Given the description of an element on the screen output the (x, y) to click on. 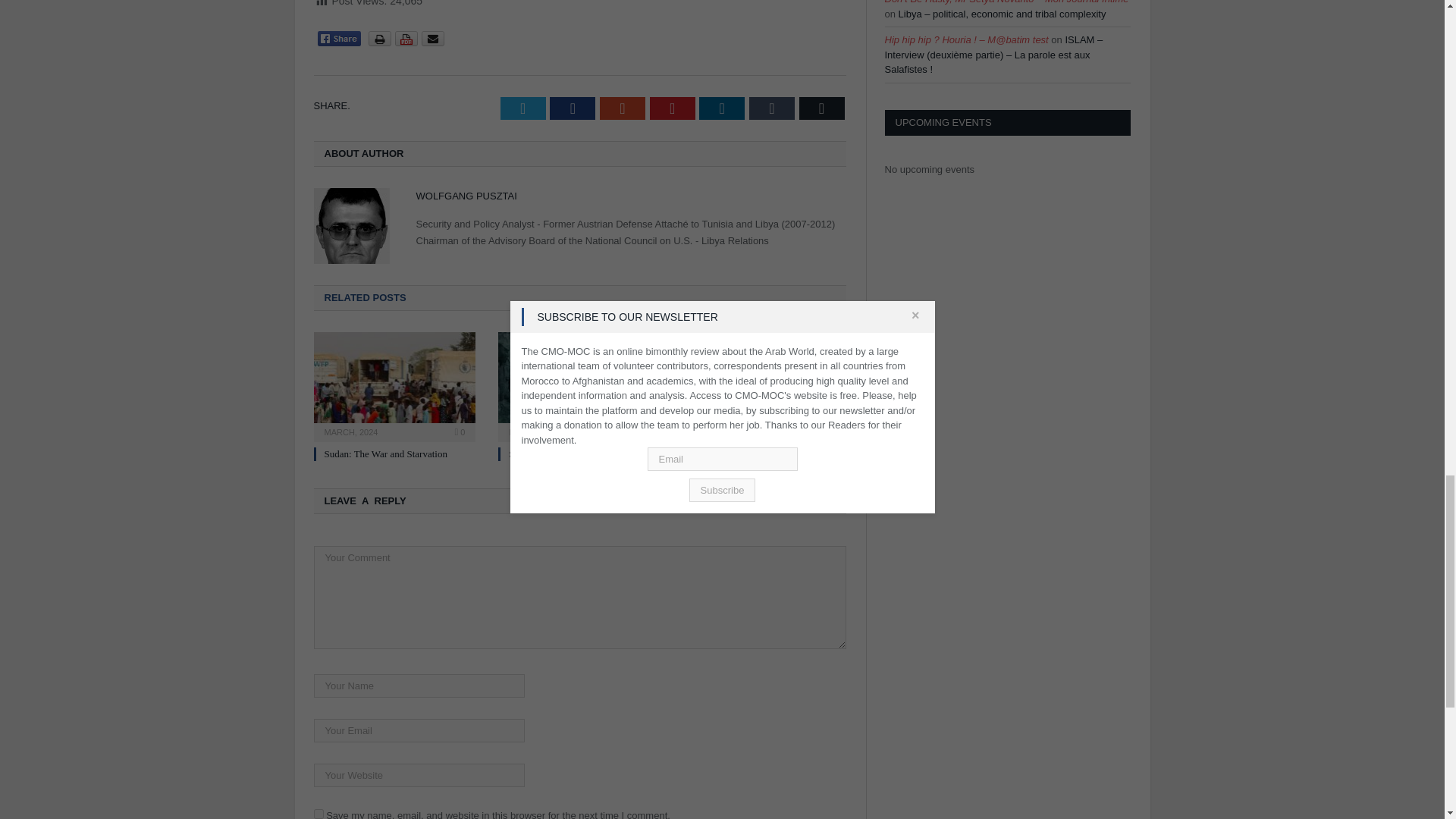
yes (318, 814)
